Given the description of an element on the screen output the (x, y) to click on. 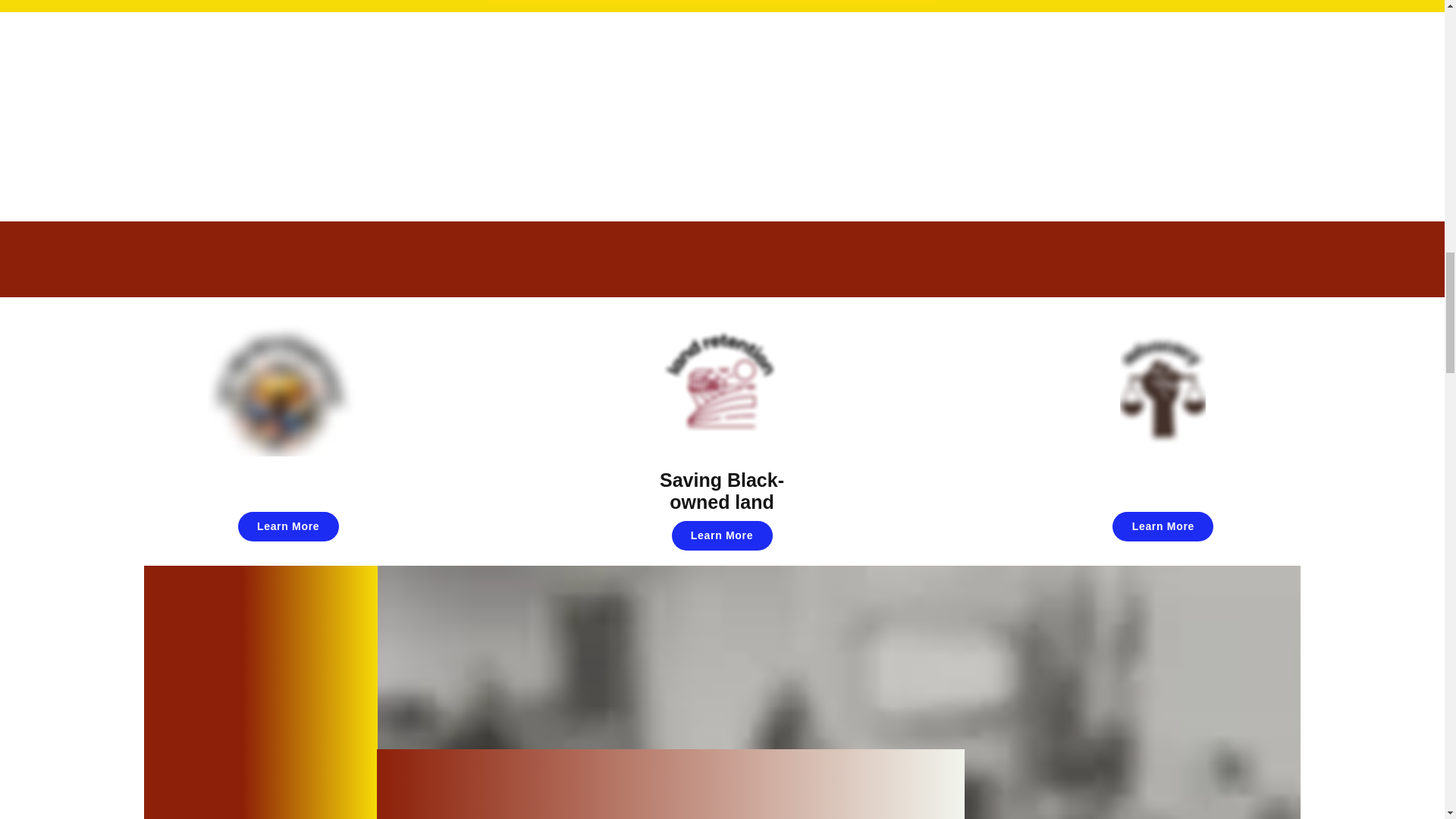
Learn More (722, 535)
Learn More (1162, 526)
Learn More (288, 526)
